Given the description of an element on the screen output the (x, y) to click on. 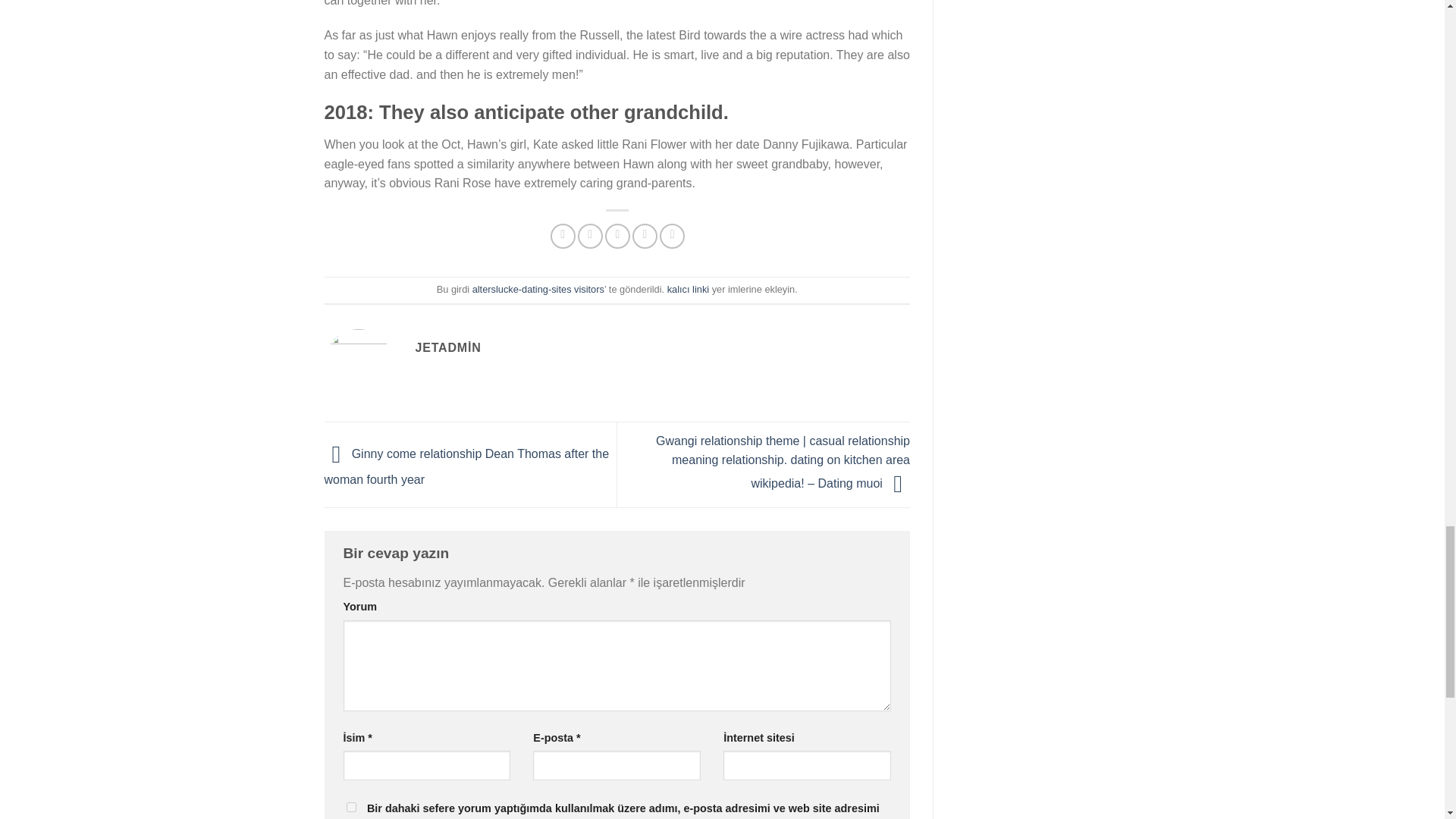
alterslucke-dating-sites visitors (537, 288)
yes (350, 807)
